Given the description of an element on the screen output the (x, y) to click on. 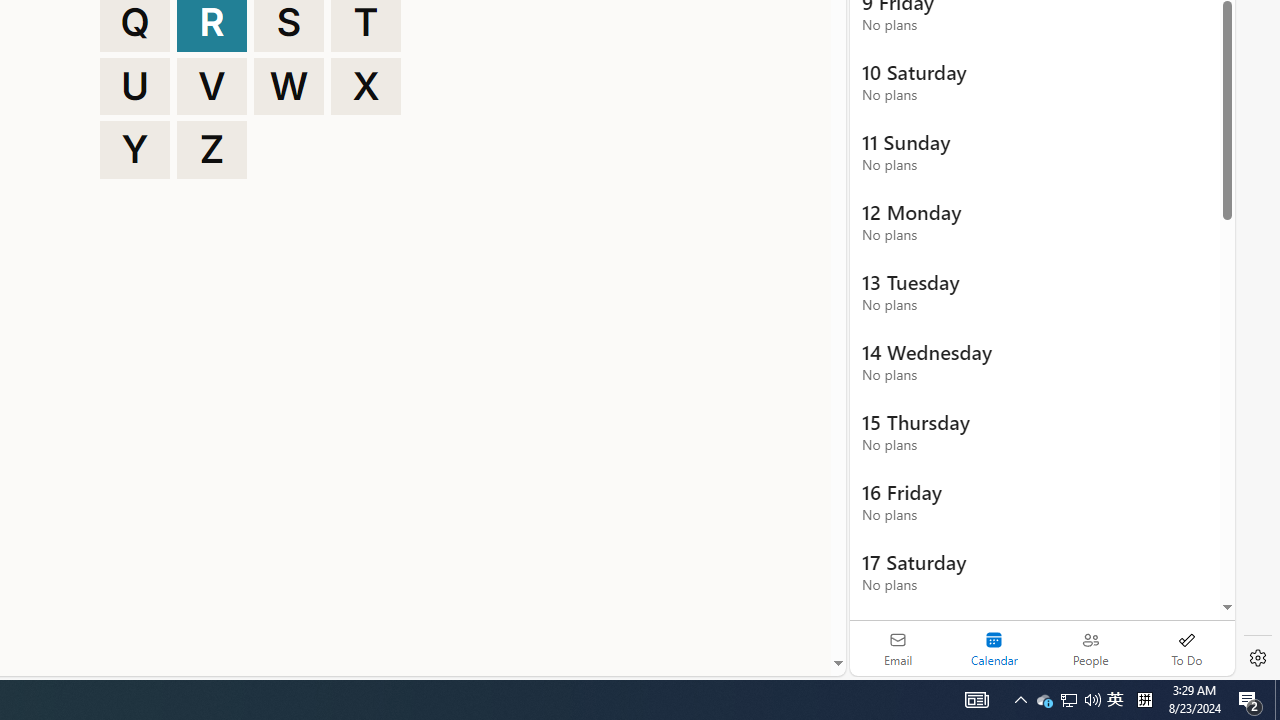
U (134, 85)
Z (212, 149)
Email (898, 648)
To Do (1186, 648)
People (1090, 648)
X (365, 85)
Z (212, 149)
U (134, 85)
Settings (1258, 658)
Y (134, 149)
